Given the description of an element on the screen output the (x, y) to click on. 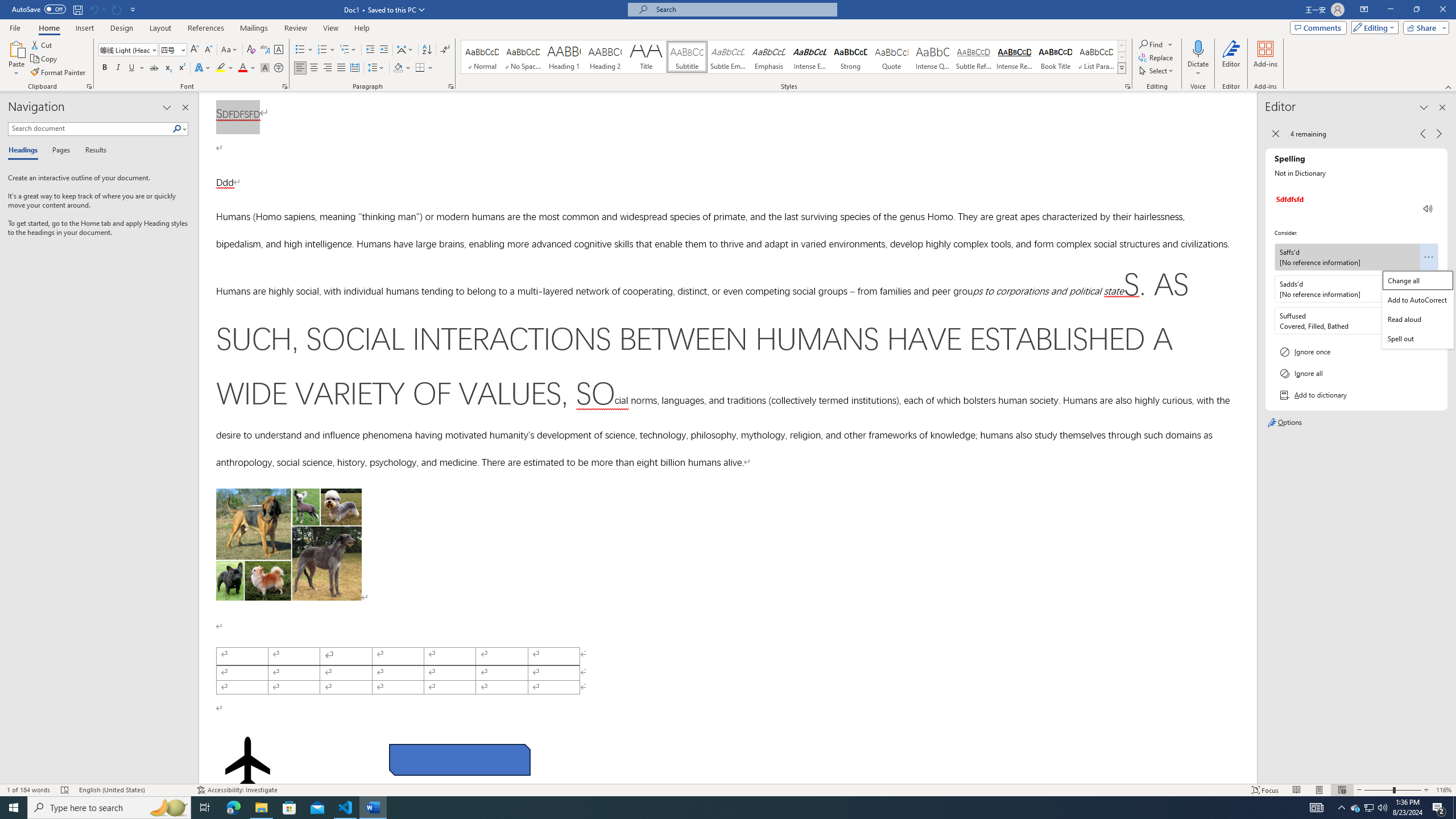
Add to dictionary (1356, 395)
Ignore all (1356, 373)
Heading 2 (605, 56)
